Given the description of an element on the screen output the (x, y) to click on. 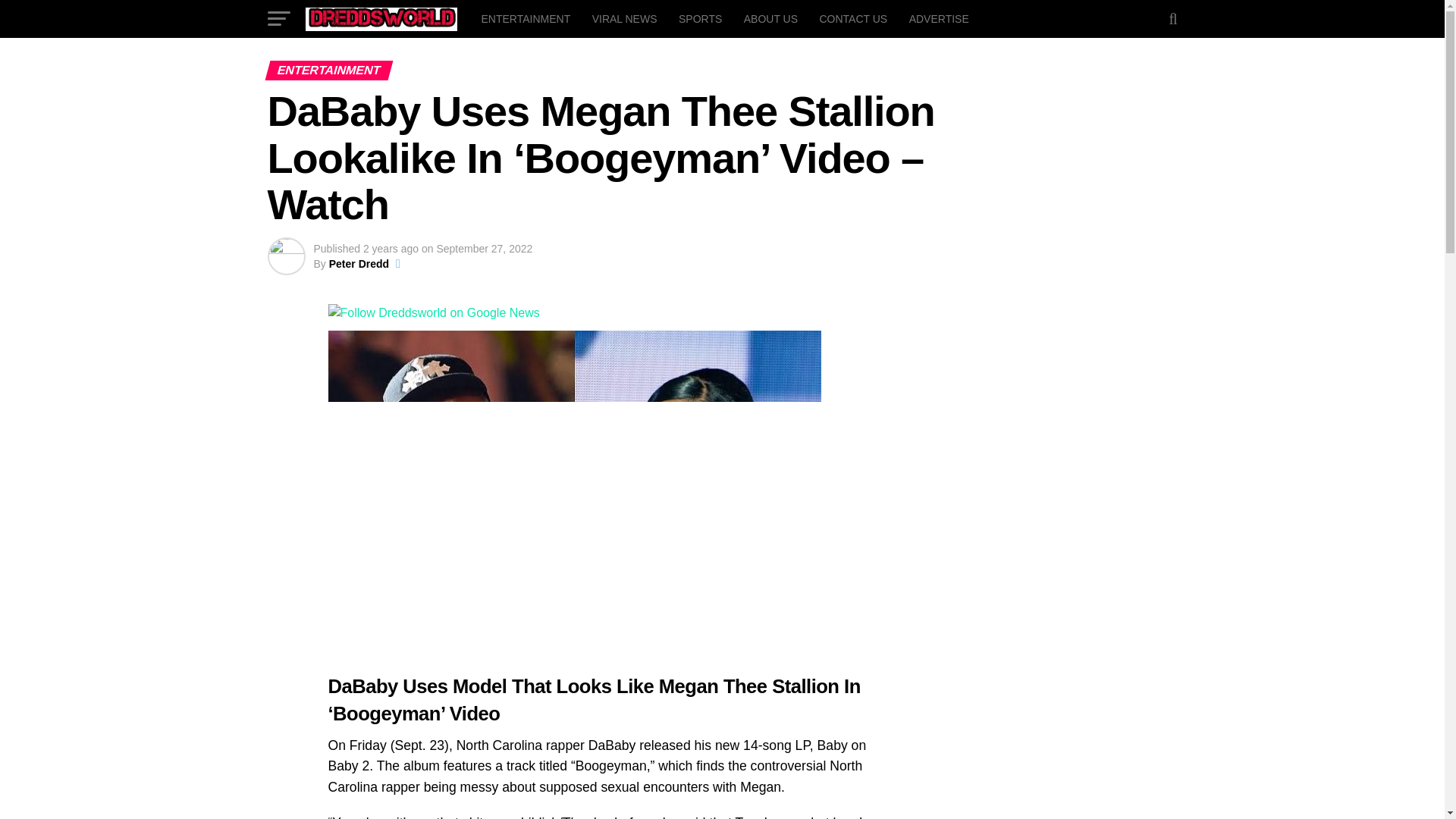
VIRAL NEWS (624, 18)
Posts by Peter Dredd (358, 263)
ABOUT US (770, 18)
SPORTS (699, 18)
ENTERTAINMENT (525, 18)
ADVERTISE (938, 18)
Peter Dredd (358, 263)
CONTACT US (852, 18)
